Given the description of an element on the screen output the (x, y) to click on. 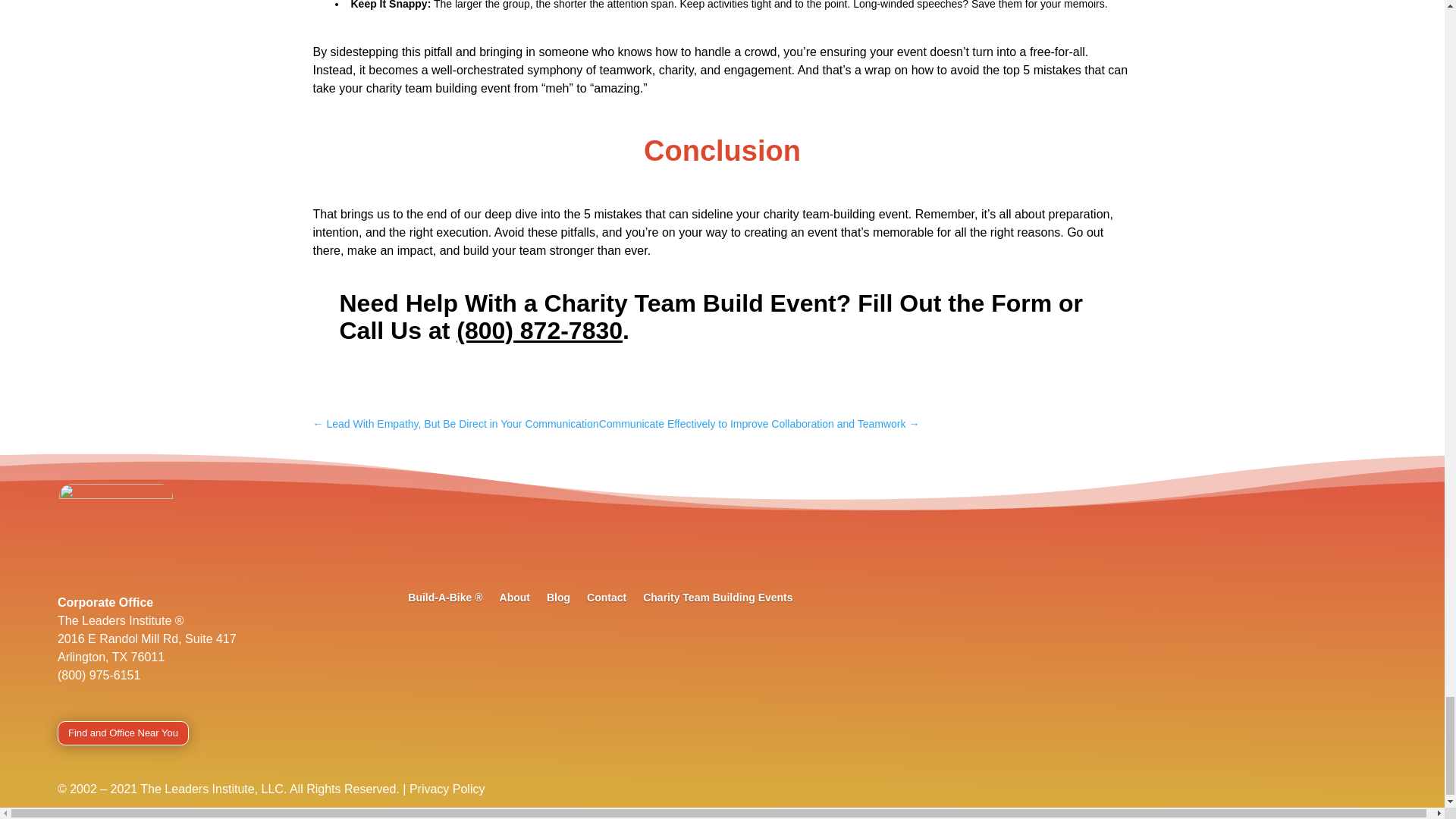
Contact (606, 600)
Blog (558, 600)
Charity Team Building Events (717, 600)
Privacy Policy (446, 788)
About (514, 600)
Find and Office Near You (123, 733)
